Given the description of an element on the screen output the (x, y) to click on. 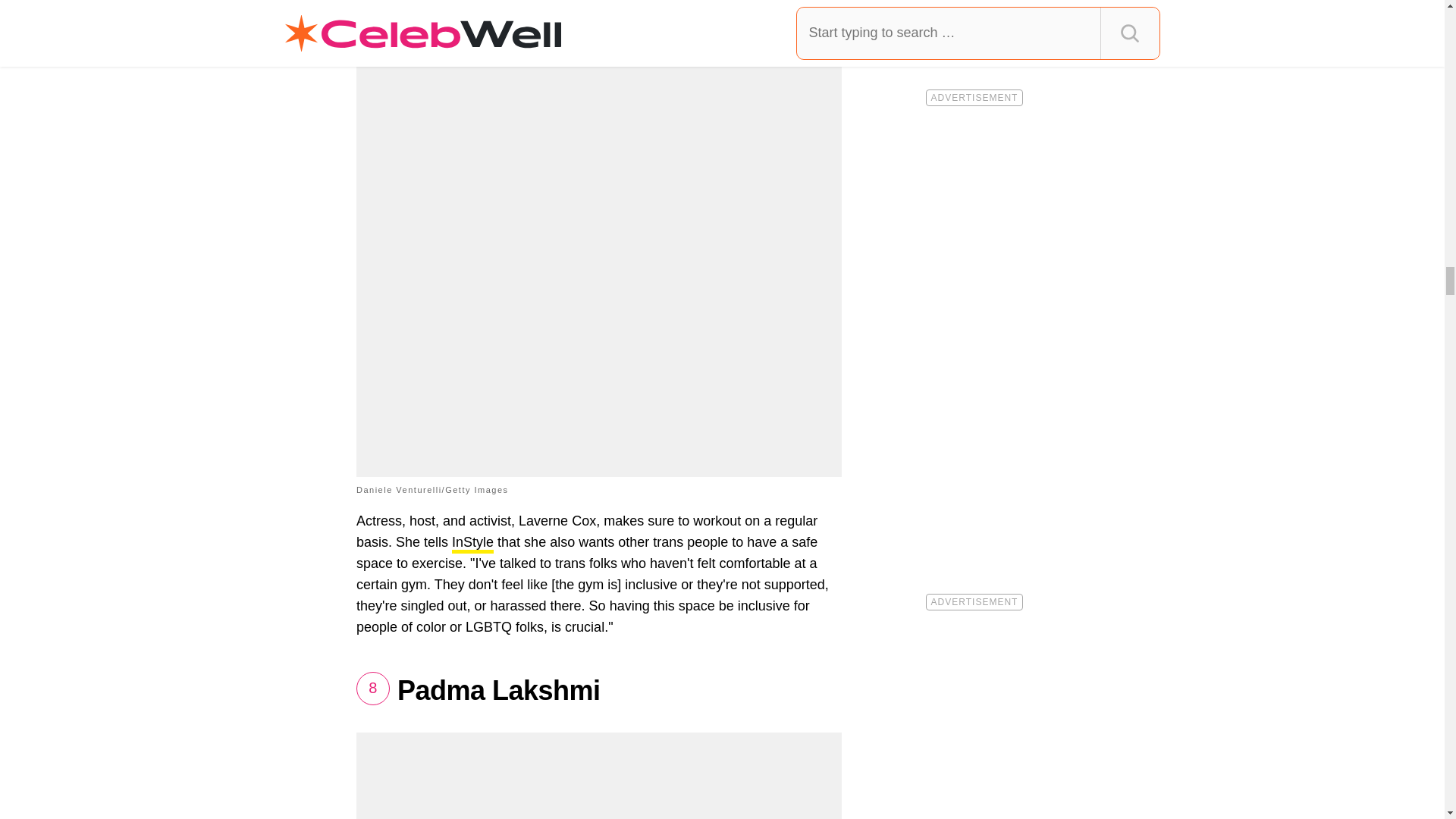
InStyle (472, 543)
